Given the description of an element on the screen output the (x, y) to click on. 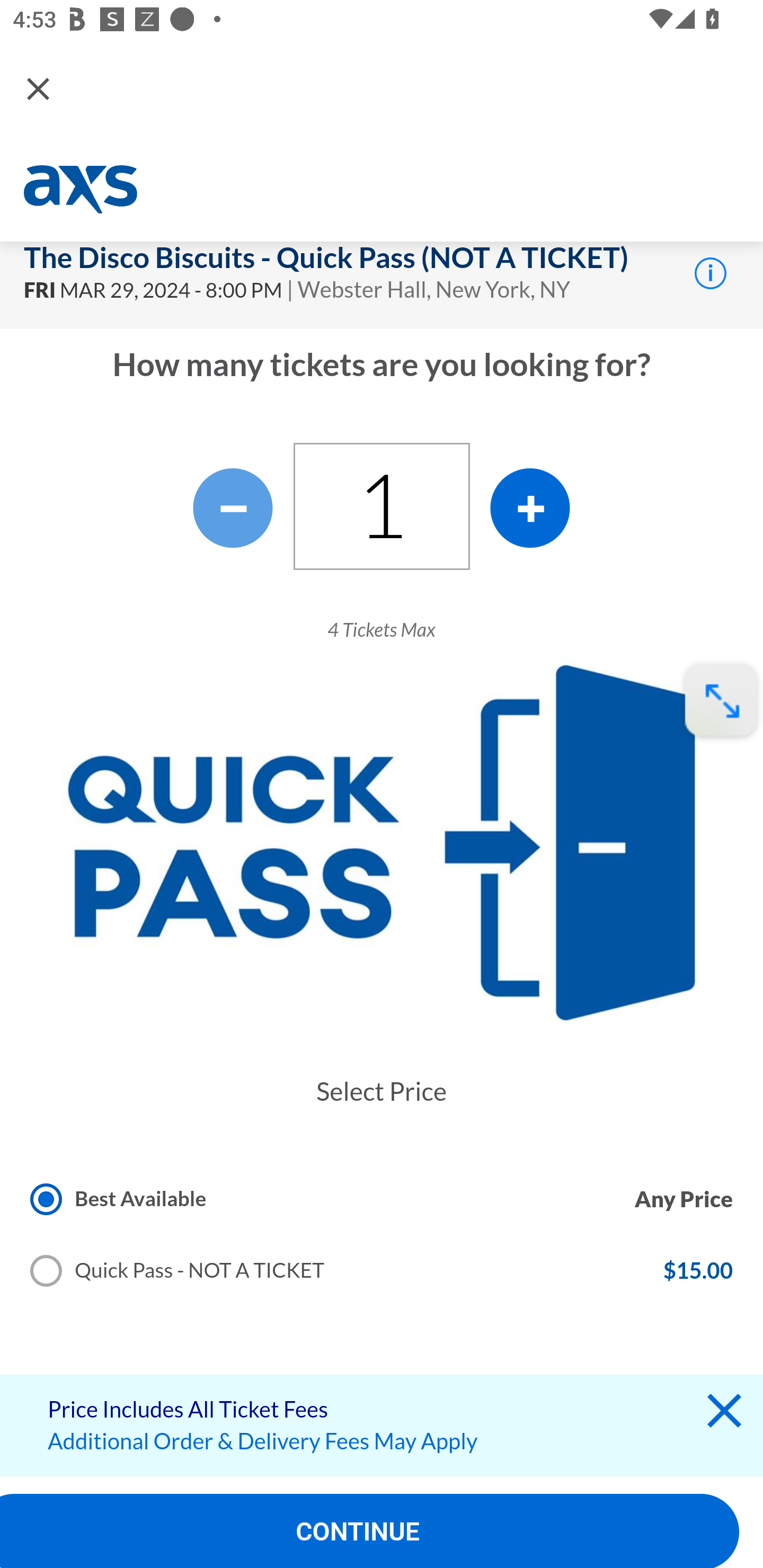
Close (38, 88)
BoweryNY-WH (83, 190)
I (710, 272)
Minus (232, 507)
Plus (530, 507)
Full In (721, 700)
Best Available (118, 1198)
Quick Pass - NOT A TICKET (177, 1270)
$15.00 (697, 1270)
Close (723, 1414)
Additional Order & Delivery Fees May Apply (262, 1440)
CONTINUE (369, 1531)
